Given the description of an element on the screen output the (x, y) to click on. 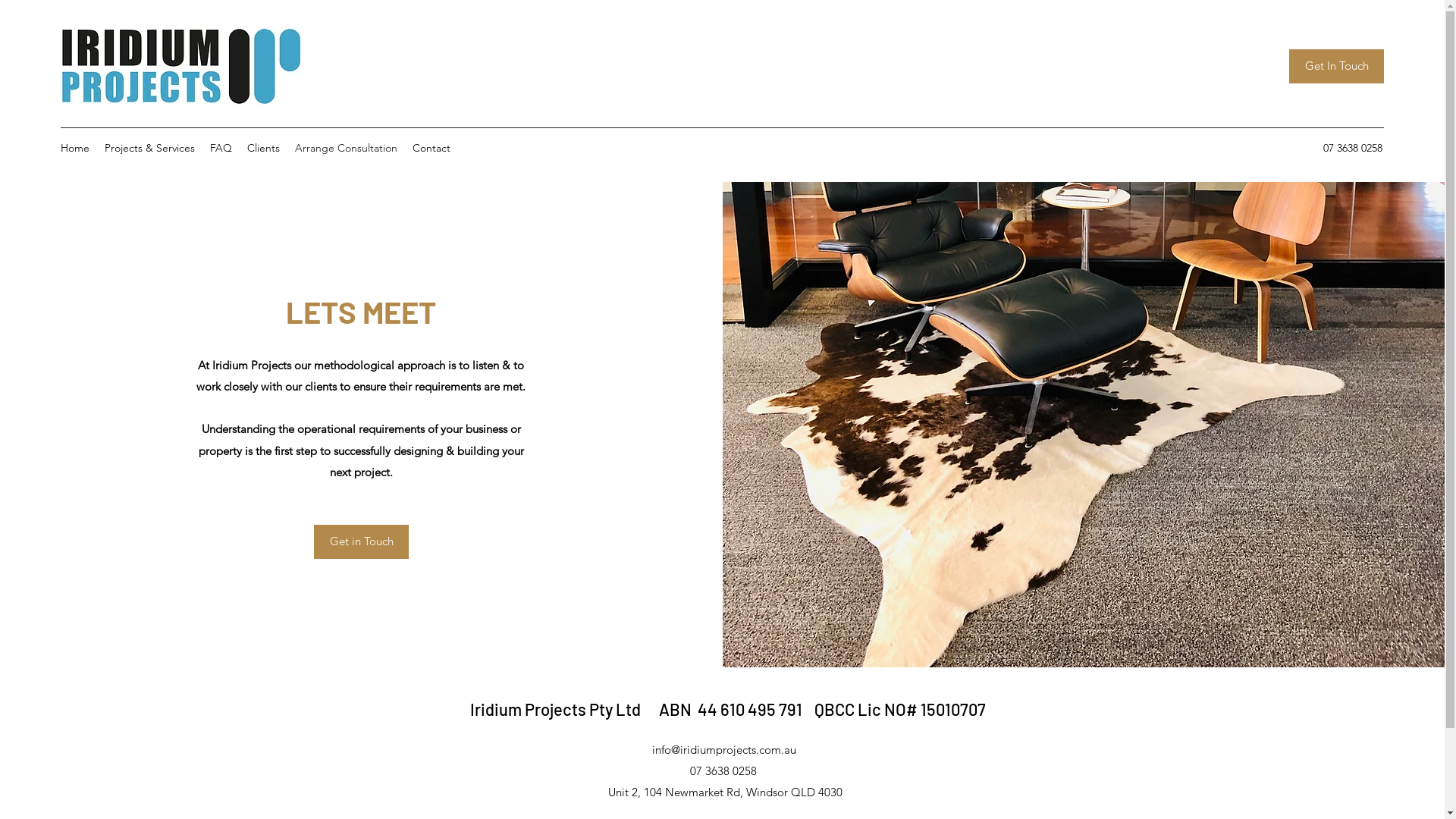
Projects & Services Element type: text (149, 147)
info@iridiumprojects.com.au Element type: text (724, 749)
Home Element type: text (75, 147)
Contact Element type: text (431, 147)
Clients Element type: text (263, 147)
Get in Touch Element type: text (360, 541)
Arrange Consultation Element type: text (345, 147)
FAQ Element type: text (220, 147)
